Given the description of an element on the screen output the (x, y) to click on. 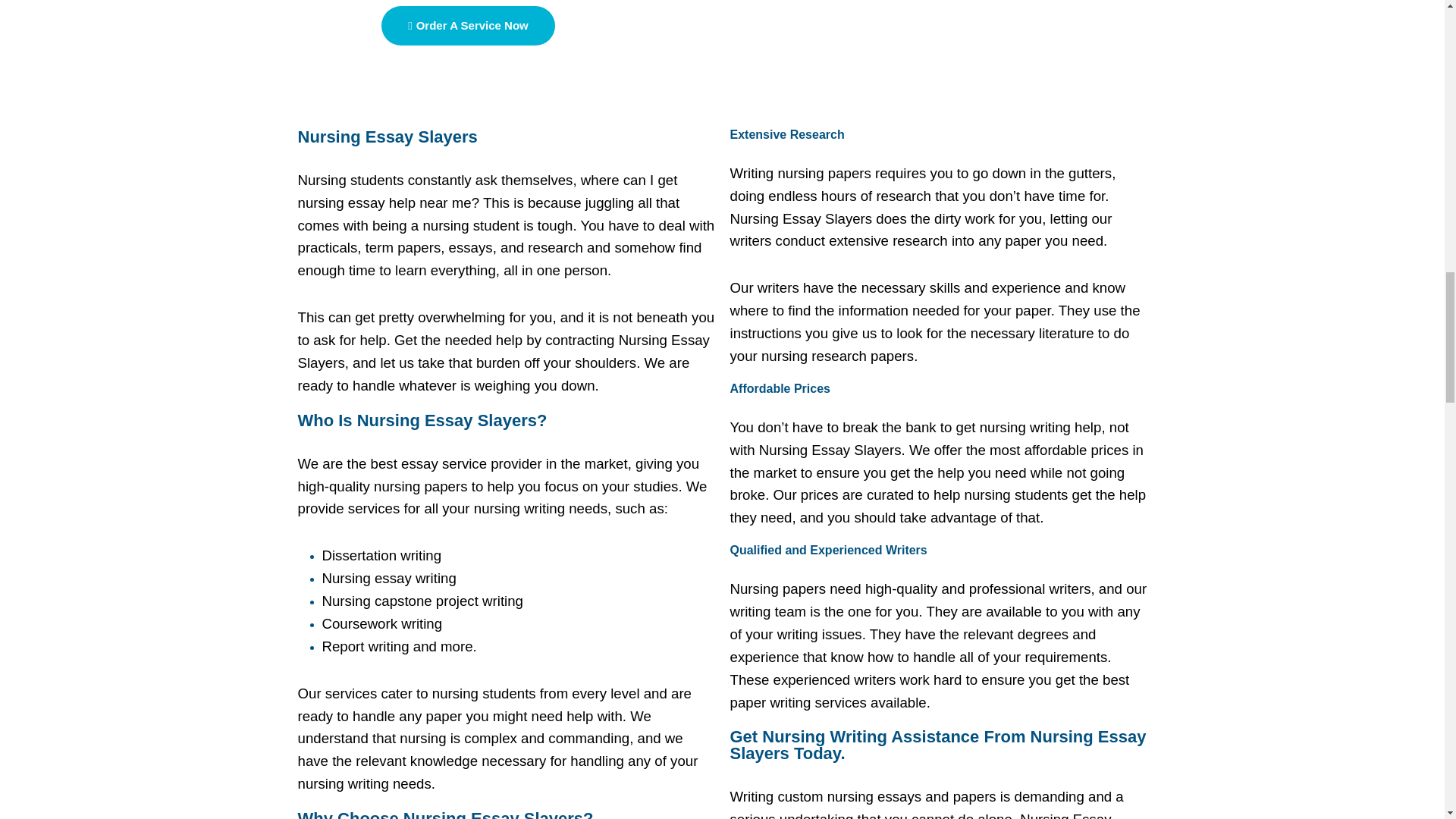
Nursing Essay Slayers (387, 136)
Order A Service Now (467, 25)
